Given the description of an element on the screen output the (x, y) to click on. 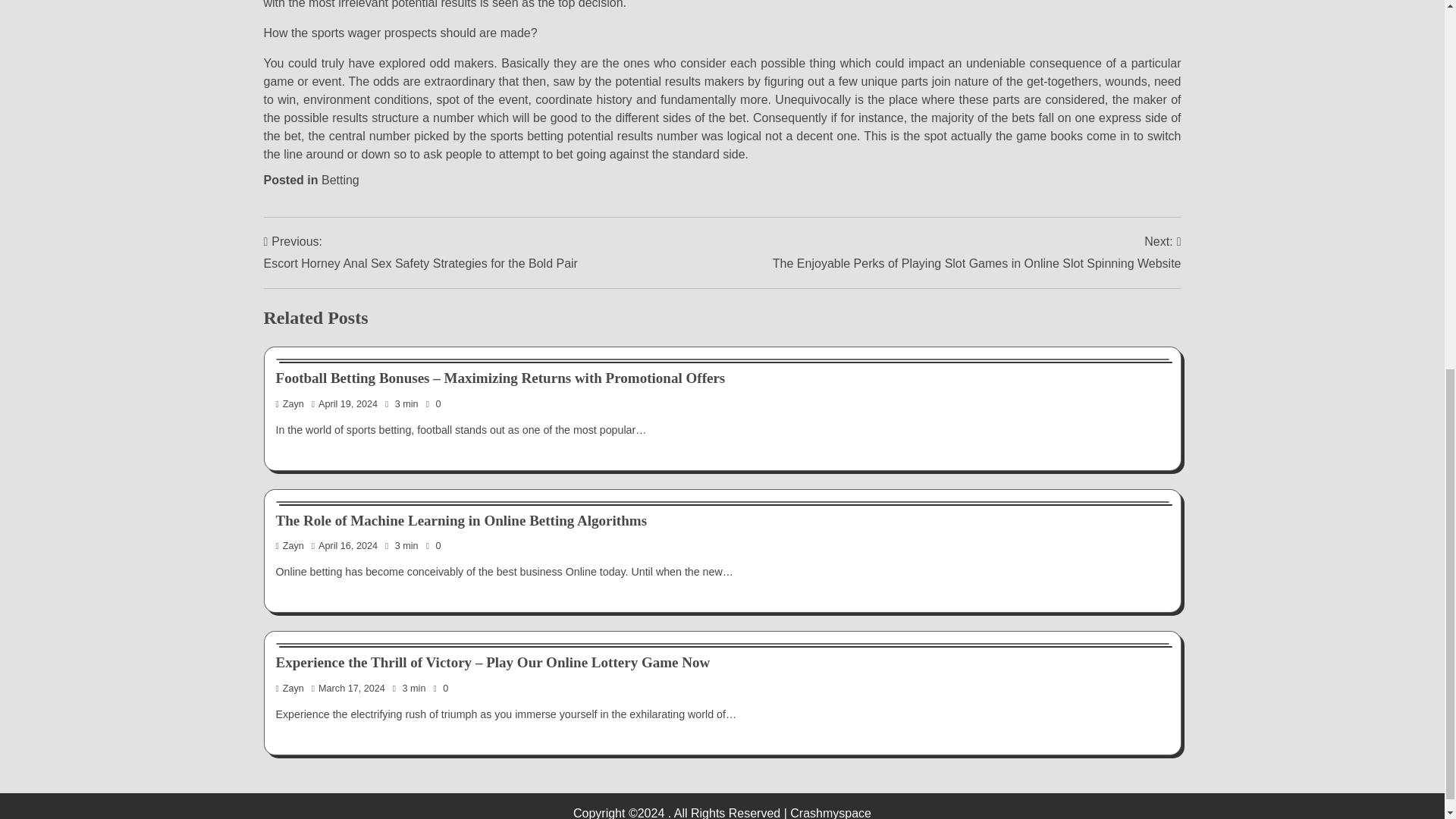
Zayn (290, 545)
Zayn (290, 688)
Betting (340, 179)
Zayn (290, 403)
The Role of Machine Learning in Online Betting Algorithms (461, 520)
